Given the description of an element on the screen output the (x, y) to click on. 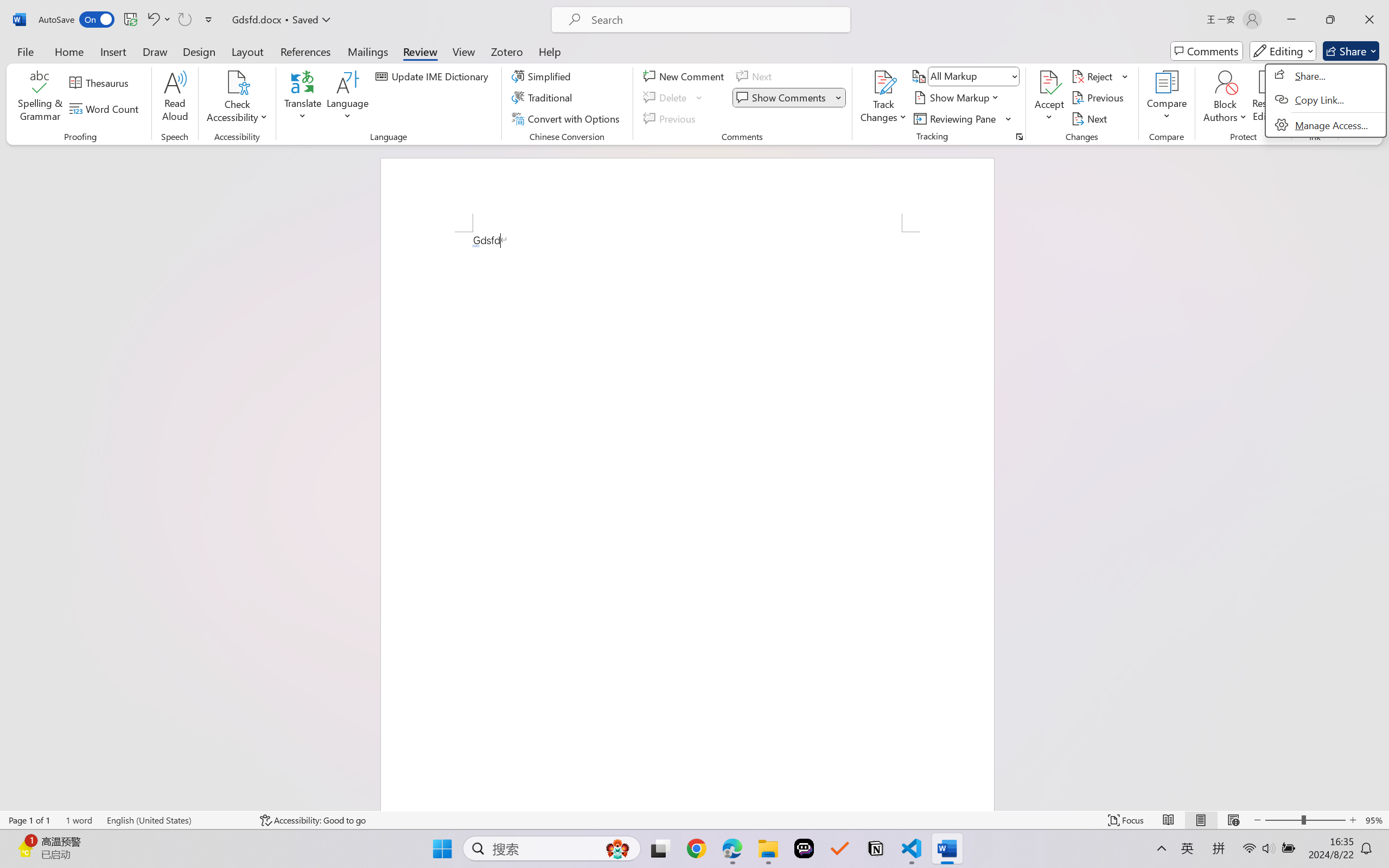
Show Comments (782, 97)
New Comment (685, 75)
Poe (804, 848)
Translate (303, 97)
Delete (673, 97)
Thesaurus... (101, 82)
Microsoft search (715, 19)
